Given the description of an element on the screen output the (x, y) to click on. 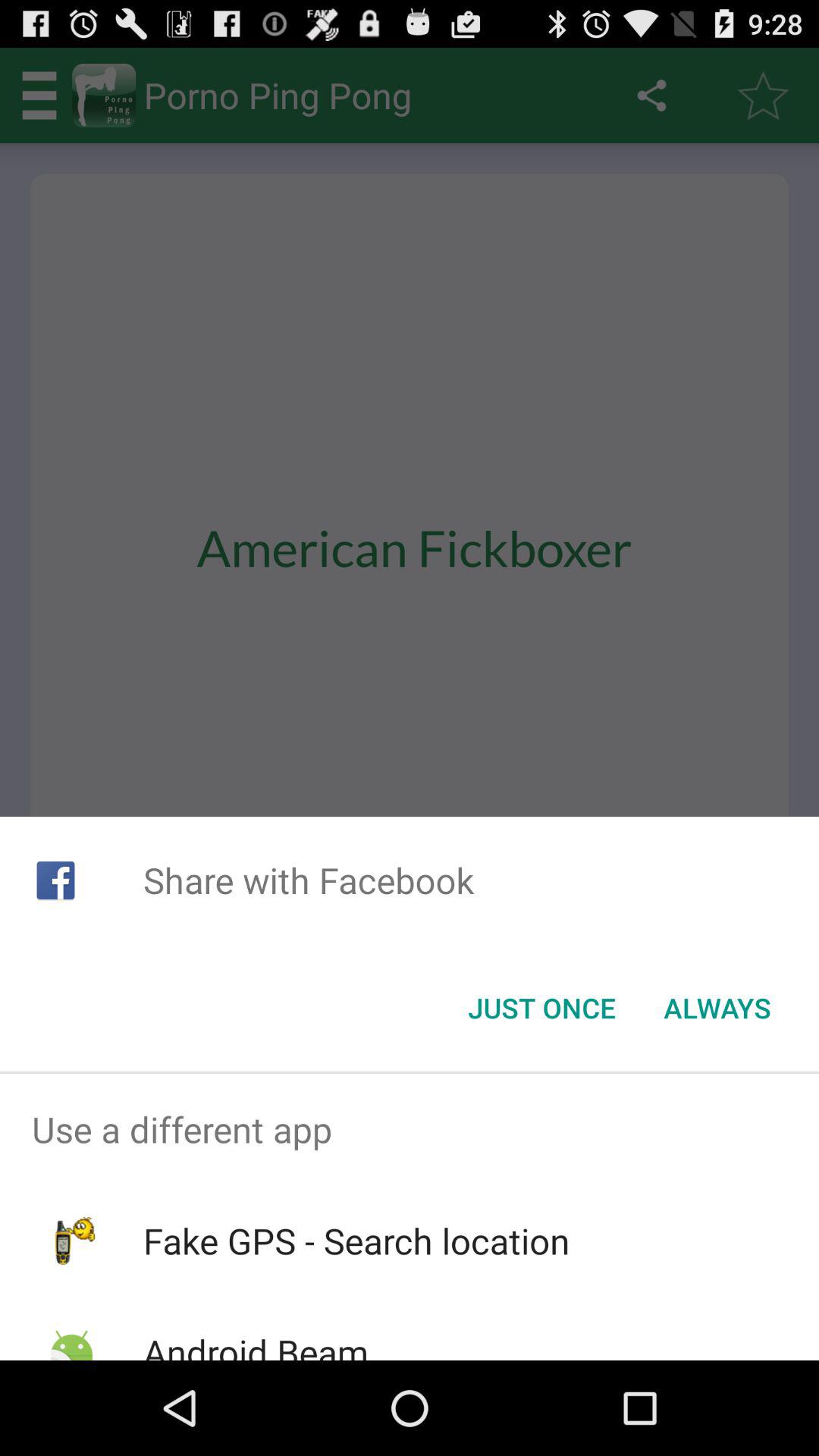
tap the app above fake gps search (409, 1129)
